Given the description of an element on the screen output the (x, y) to click on. 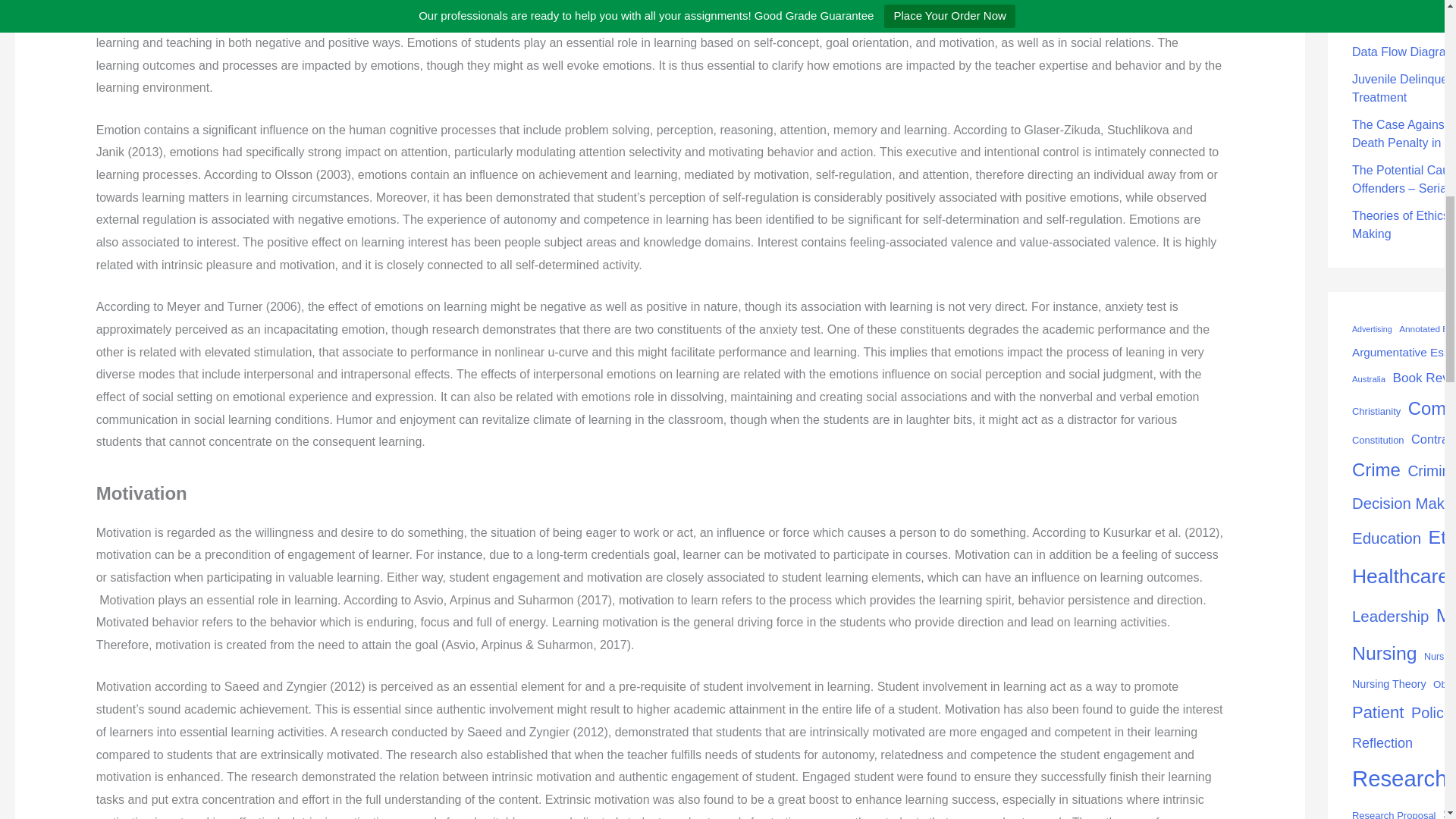
Decision Making (1404, 503)
Christianity (1376, 411)
Education (1386, 537)
Communication (1431, 408)
Constitution (1378, 440)
Argumentative Essay (1404, 352)
Data Flow Diagrams Basic Symbols (1404, 51)
Contract (1433, 439)
Criminal Justice (1431, 471)
The Case Against Bringing Back the Death Penalty in Canada (1404, 133)
Book Review (1423, 377)
Advertising (1371, 329)
Juvenile Delinquency Prevention and Treatment (1404, 88)
Australia (1369, 379)
Annotated Bibliography (1427, 330)
